Given the description of an element on the screen output the (x, y) to click on. 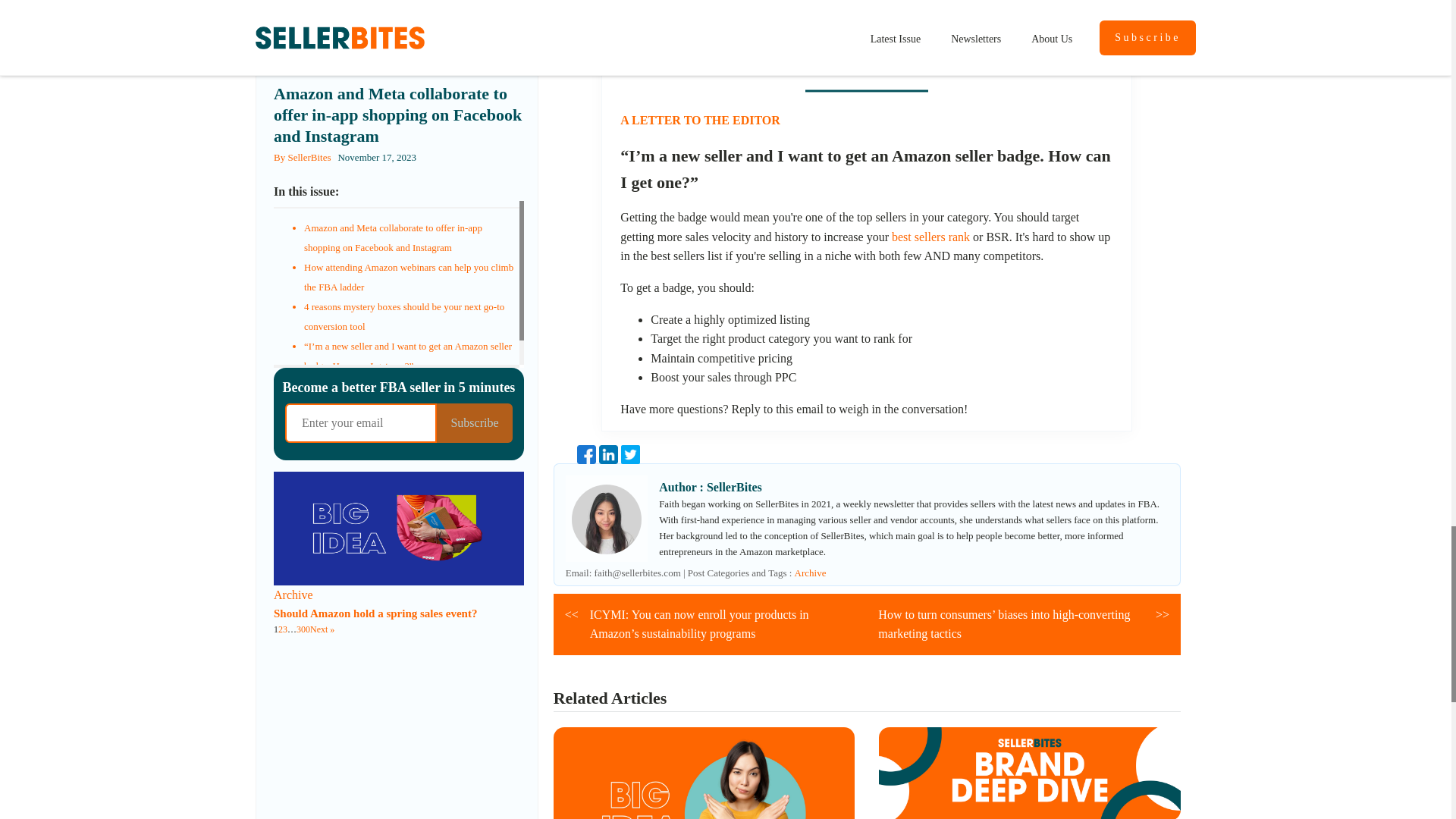
grow your sales (759, 6)
